Given the description of an element on the screen output the (x, y) to click on. 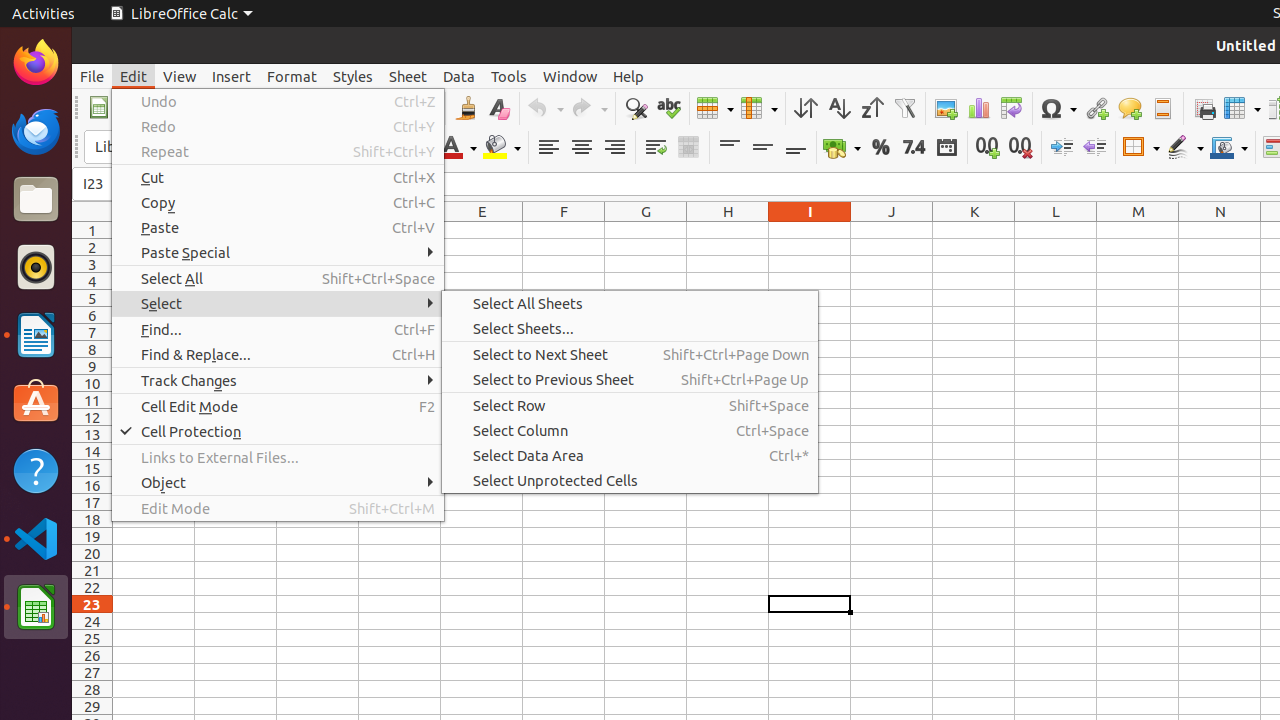
Select Element type: menu (278, 303)
Clear Element type: push-button (498, 108)
Find & Replace Element type: toggle-button (635, 108)
Copy Element type: menu-item (278, 202)
